Given the description of an element on the screen output the (x, y) to click on. 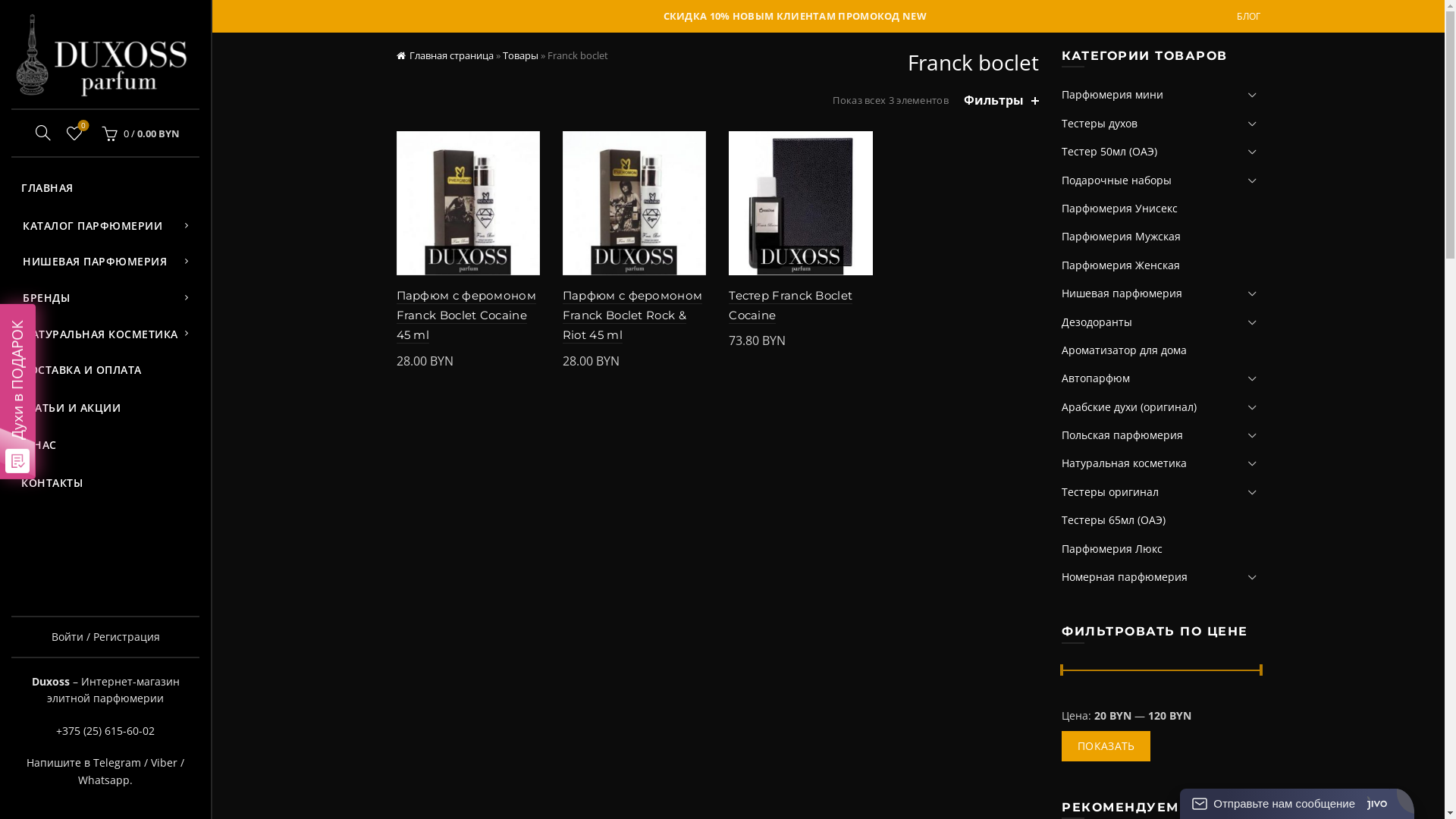
Viber Element type: text (163, 762)
+375 (25) 615-60-02 Element type: text (105, 730)
0 / 0.00 BYN Element type: text (138, 133)
Telegram Element type: text (117, 762)
Whatsapp Element type: text (103, 779)
